Given the description of an element on the screen output the (x, y) to click on. 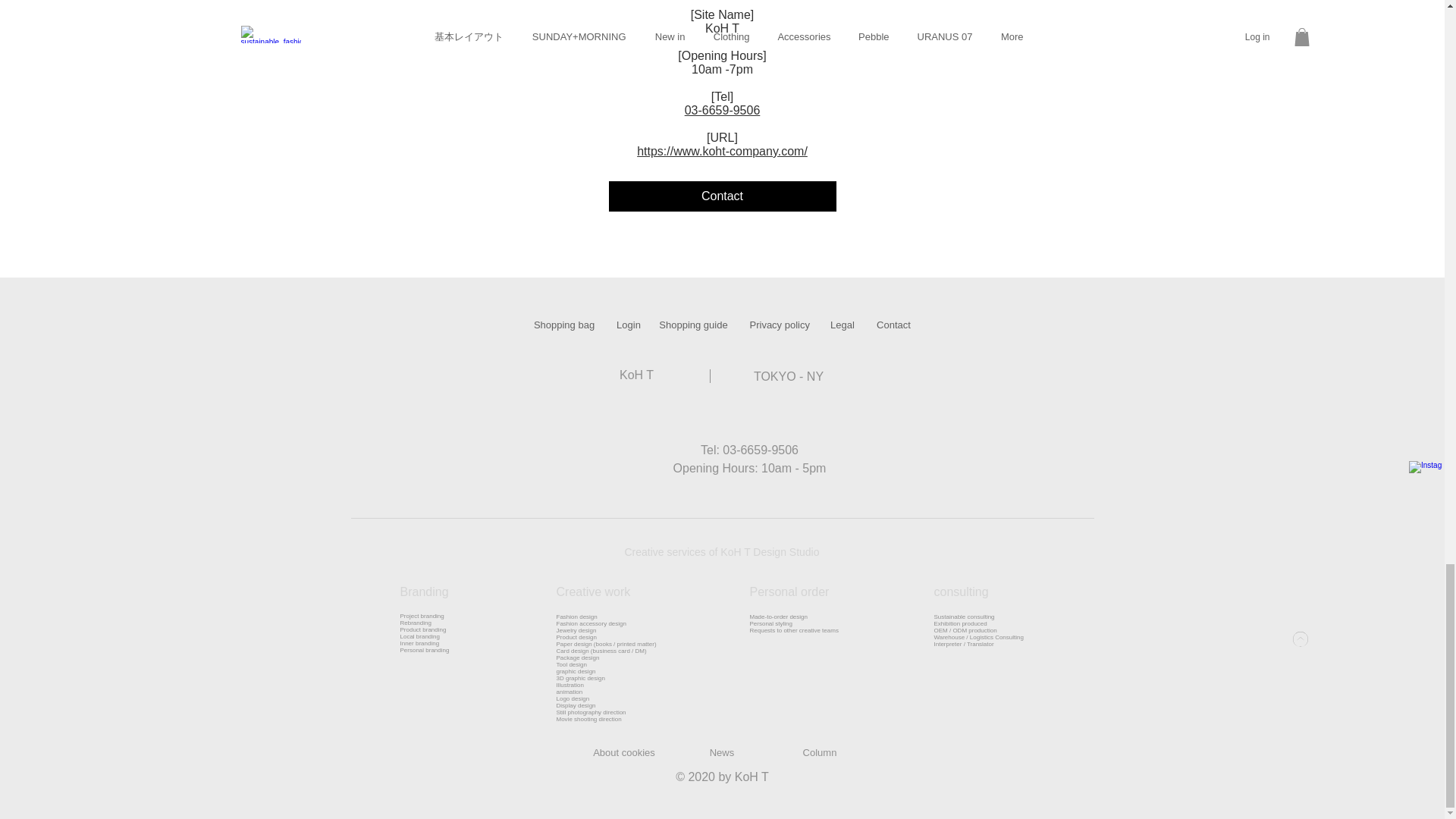
Contact (721, 195)
Shopping bag (563, 325)
Shopping guide (693, 325)
Contact (893, 325)
03-6659-9506 (722, 110)
Branding (424, 591)
Privacy policy (779, 325)
Creative work (593, 591)
